Given the description of an element on the screen output the (x, y) to click on. 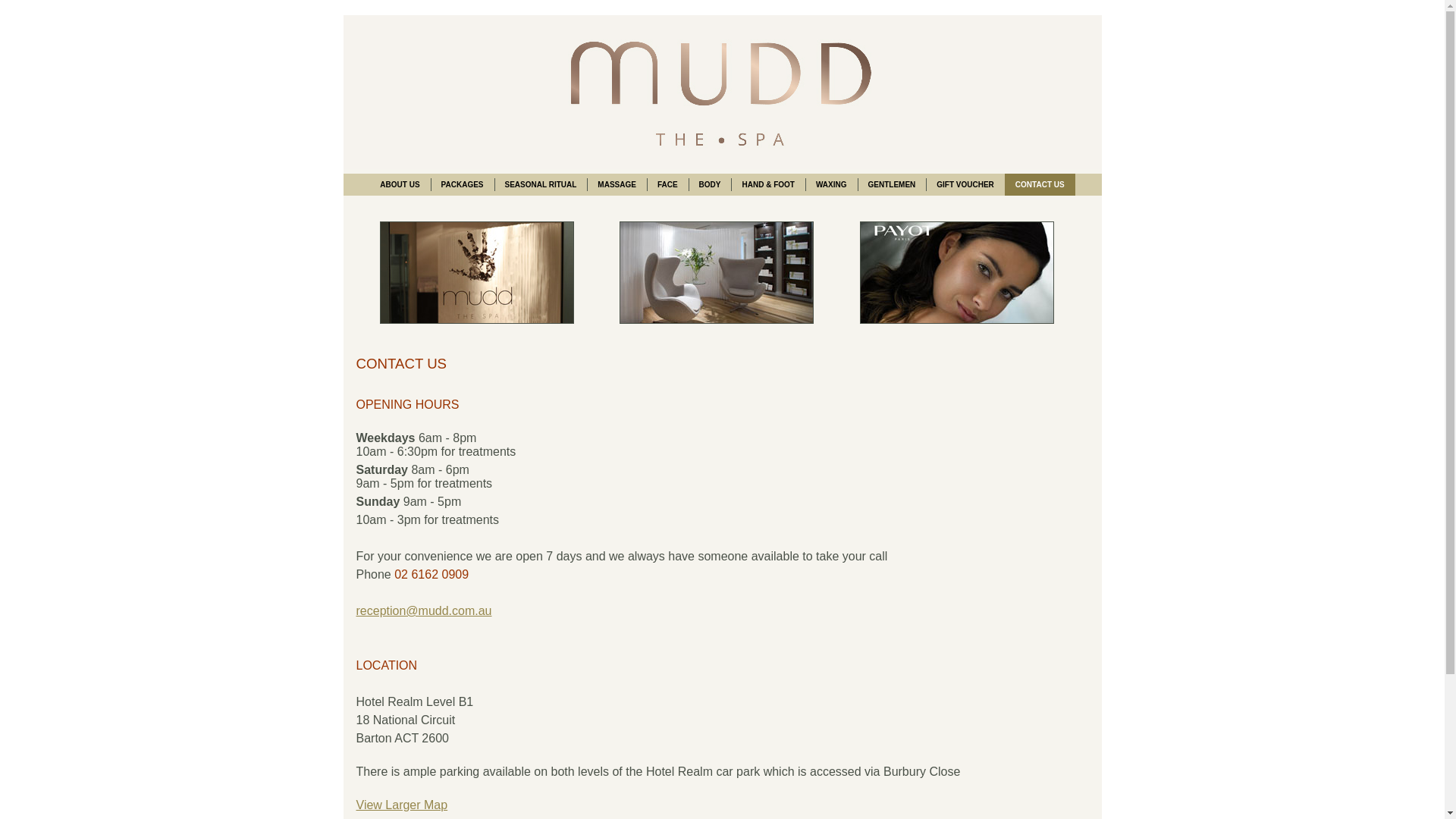
View Larger Map Element type: text (402, 804)
reception@mudd.com.au Element type: text (424, 610)
ABOUT US Element type: text (399, 184)
GIFT VOUCHER Element type: text (964, 184)
FACE Element type: text (667, 184)
HAND & FOOT Element type: text (767, 184)
BODY Element type: text (709, 184)
WAXING Element type: text (831, 184)
SEASONAL RITUAL Element type: text (540, 184)
PACKAGES Element type: text (462, 184)
GENTLEMEN Element type: text (890, 184)
MASSAGE Element type: text (616, 184)
CONTACT US Element type: text (1039, 184)
